Given the description of an element on the screen output the (x, y) to click on. 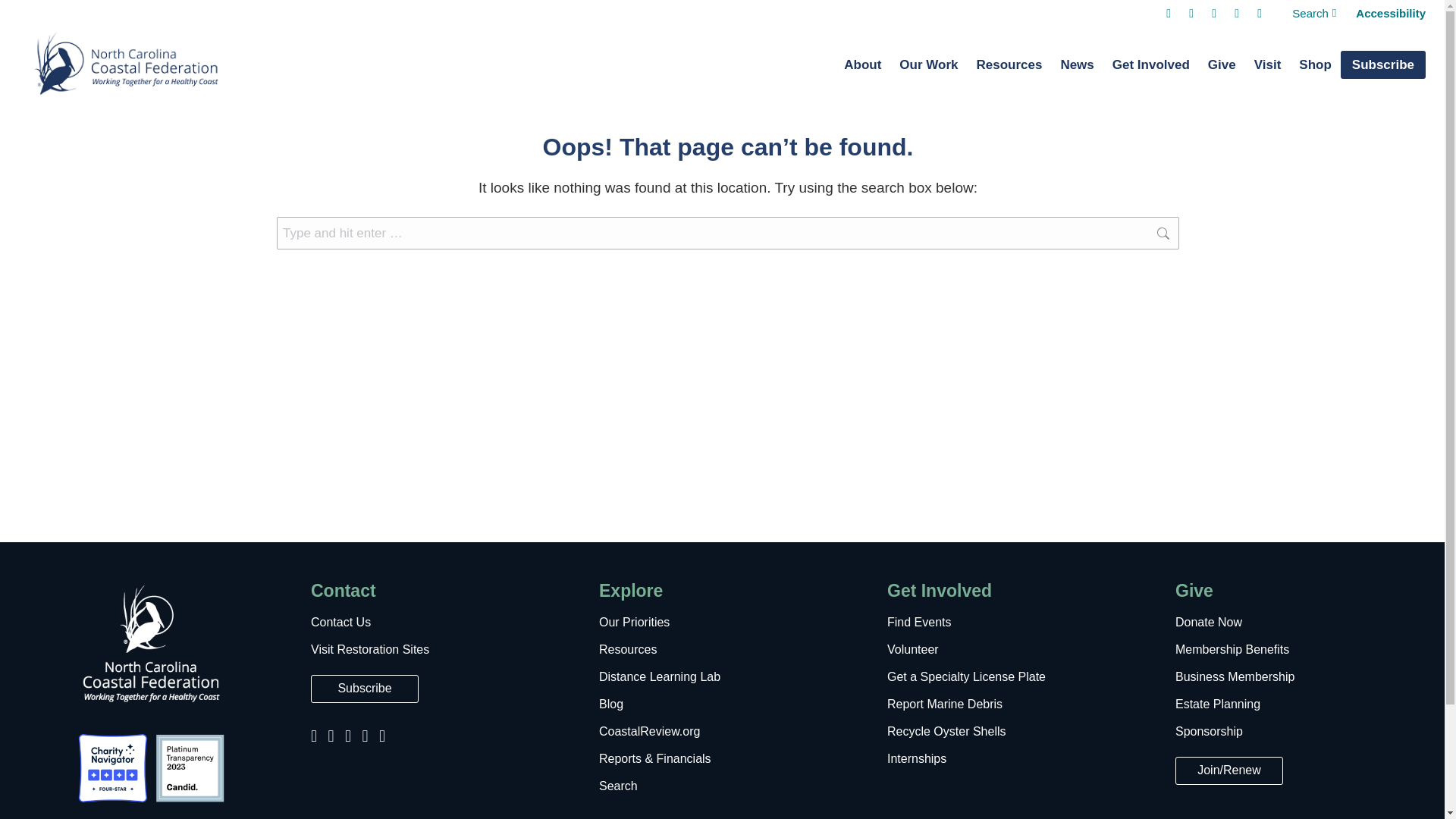
Facebook page opens in new window (1167, 12)
Instagram page opens in new window (1190, 12)
X page opens in new window (1236, 12)
X page opens in new window (1236, 12)
YouTube page opens in new window (1214, 12)
Linkedin page opens in new window (1259, 12)
Go! (1203, 234)
About (861, 64)
Our Work (927, 64)
Facebook page opens in new window (1167, 12)
